Given the description of an element on the screen output the (x, y) to click on. 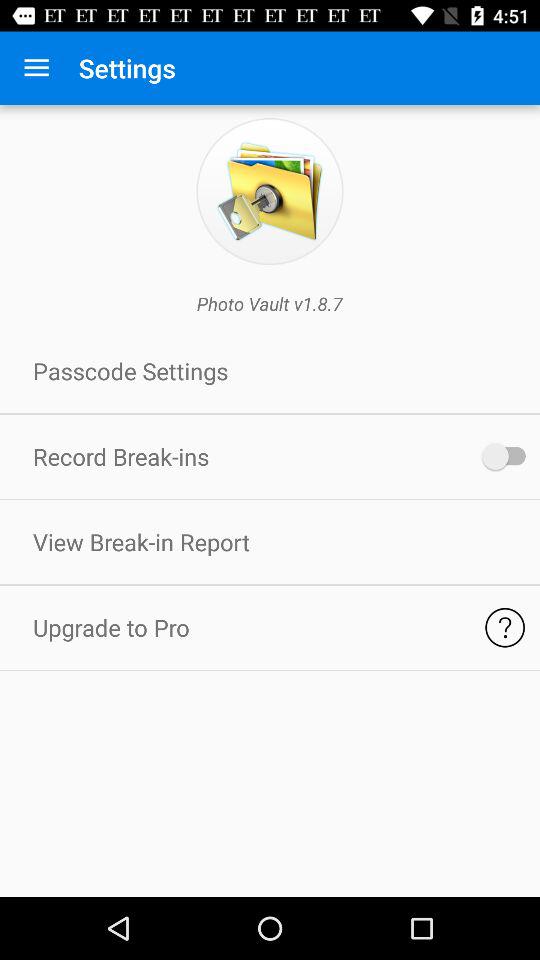
help button (504, 627)
